Given the description of an element on the screen output the (x, y) to click on. 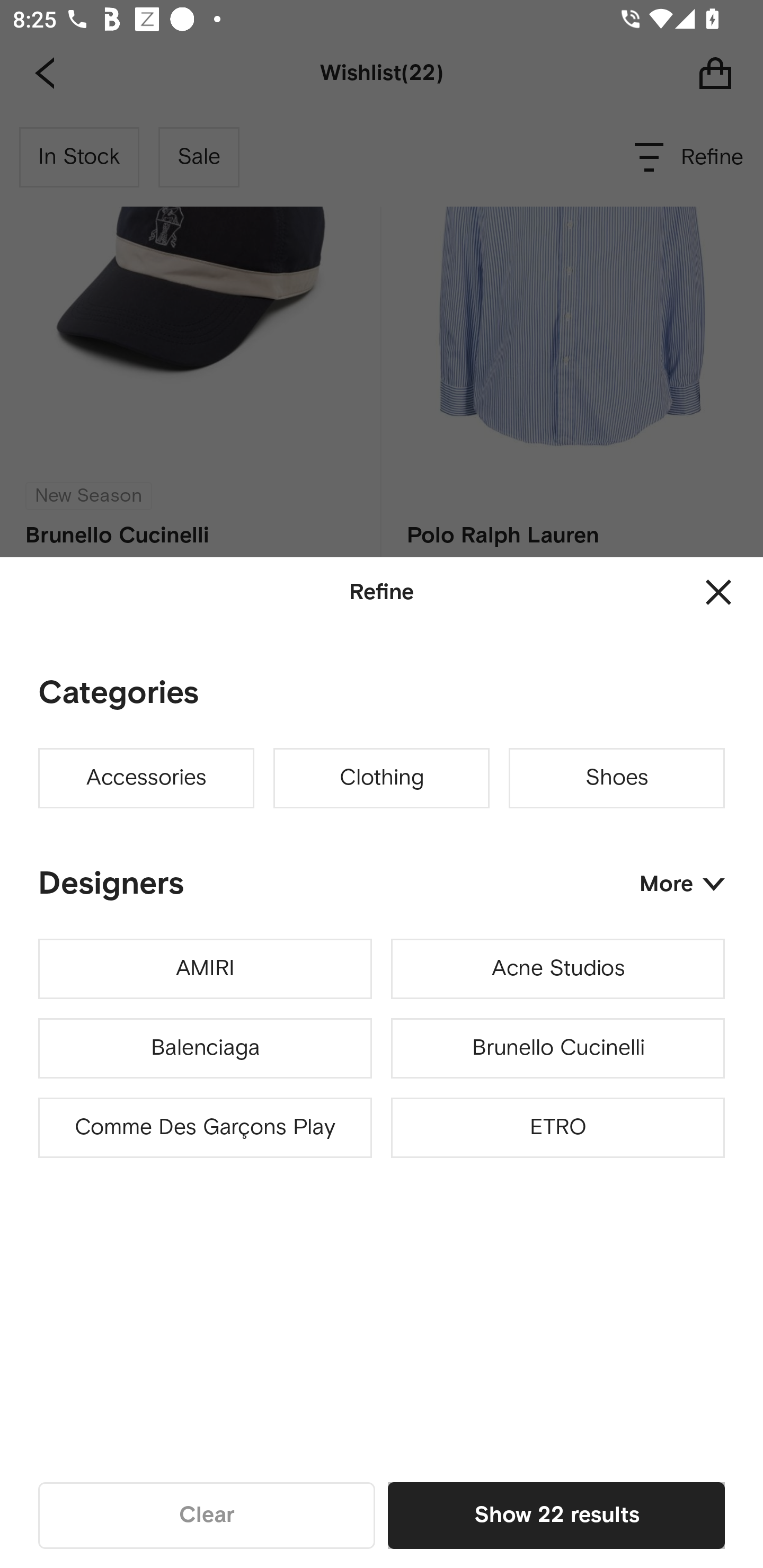
Accessories (146, 778)
Clothing (381, 778)
Shoes (616, 778)
More (681, 884)
AMIRI (205, 968)
Acne Studios (557, 968)
Balenciaga (205, 1047)
Brunello Cucinelli (557, 1047)
Comme Des Garçons Play (205, 1127)
ETRO (557, 1127)
Clear (206, 1515)
Show 22 results (555, 1515)
